Given the description of an element on the screen output the (x, y) to click on. 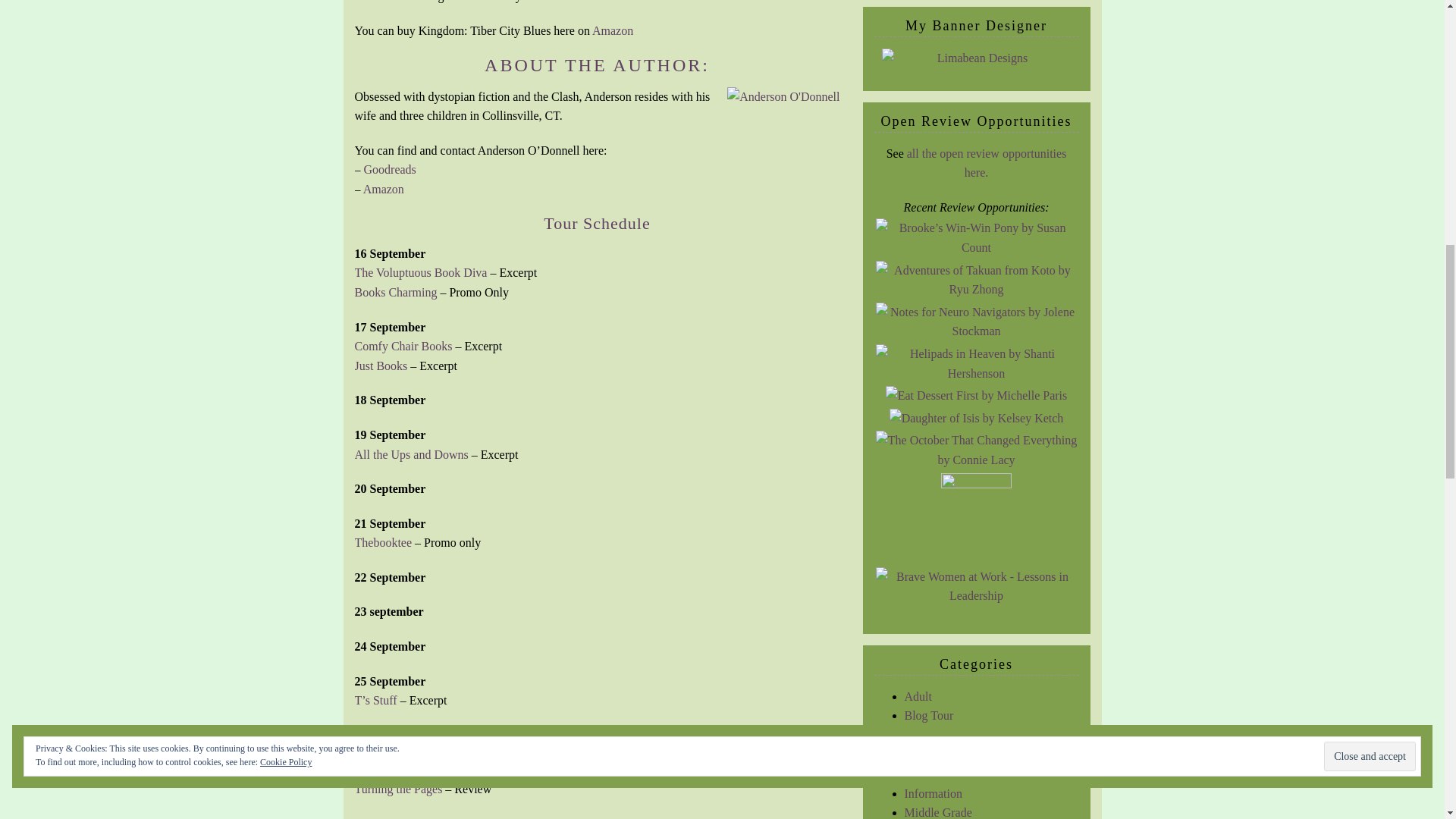
Goodreads (390, 169)
Amazon (383, 188)
Amazon (612, 30)
The Voluptuous Book Diva (421, 272)
Goodreads (596, 1)
